Given the description of an element on the screen output the (x, y) to click on. 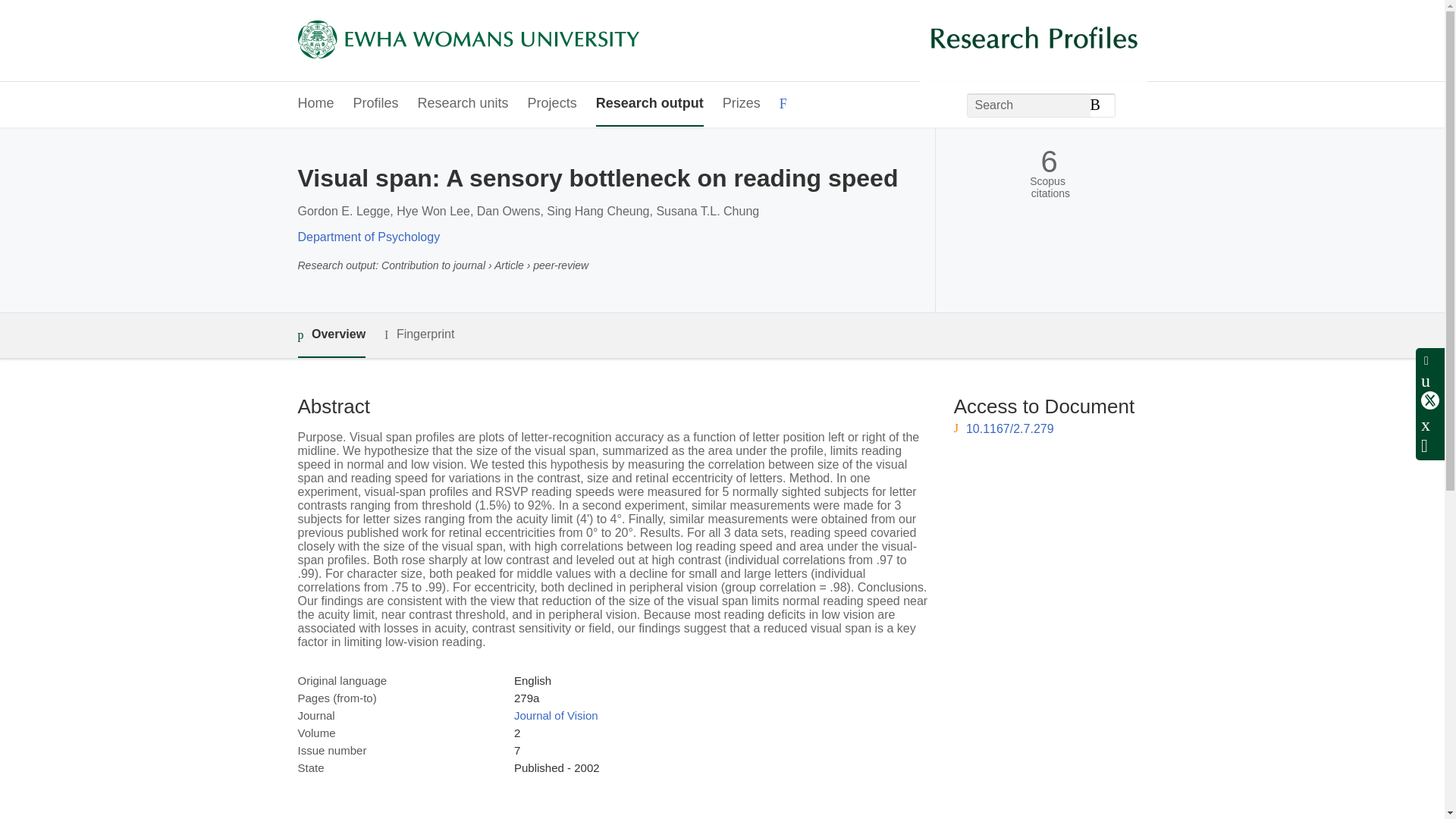
Overview (331, 334)
Profiles (375, 103)
Projects (551, 103)
Research units (462, 103)
Department of Psychology (368, 236)
Journal of Vision (555, 715)
Ewha Womans University Home (468, 40)
Research output (649, 103)
Fingerprint (419, 334)
